Given the description of an element on the screen output the (x, y) to click on. 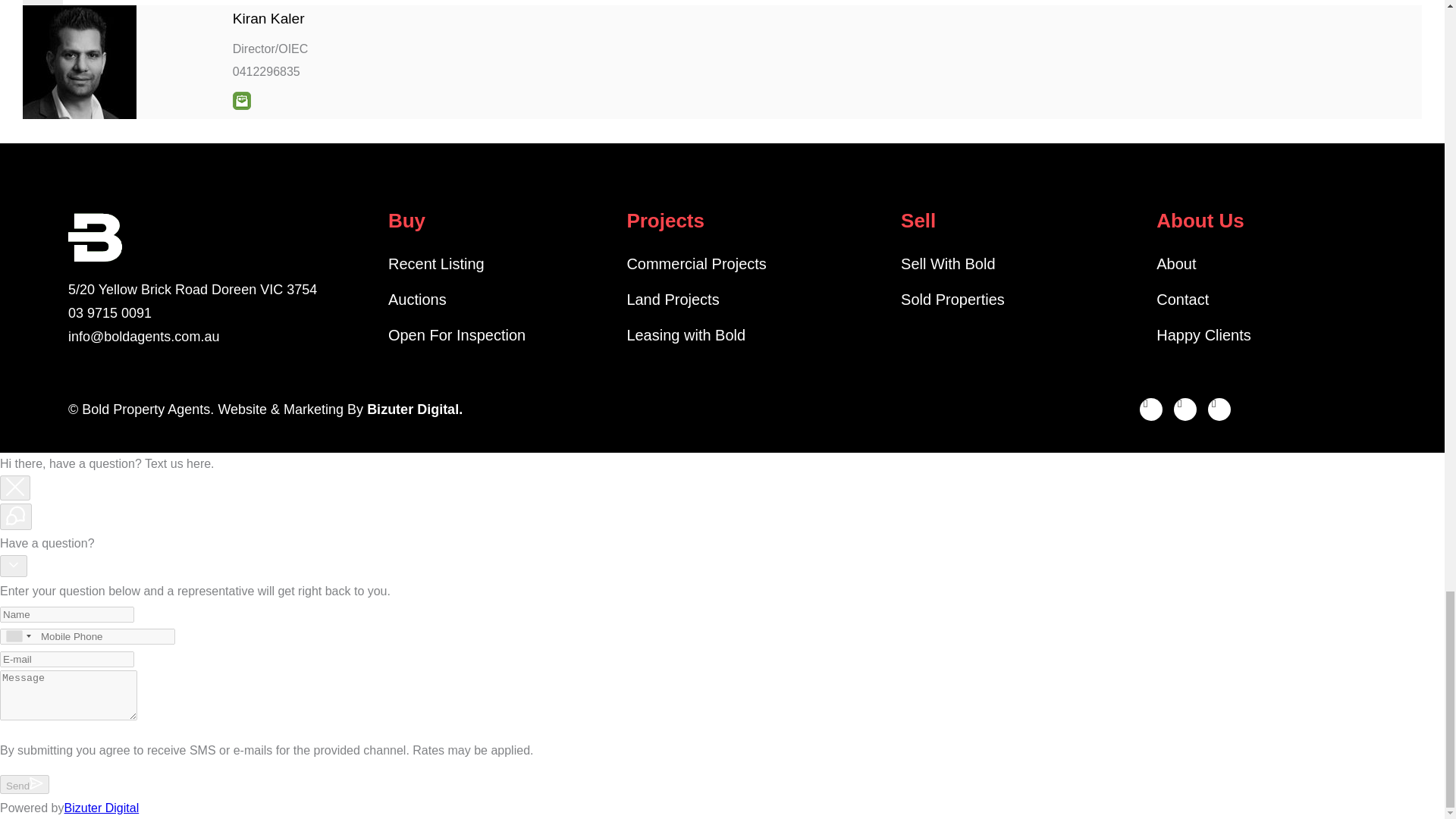
Auctions (499, 299)
Kiran Kaler (268, 18)
Email (241, 100)
Open For Inspection (499, 334)
03 9715 0091 (205, 312)
Recent Listing (499, 263)
Commercial Projects (755, 263)
Contact Kiran Kaler by Email (241, 100)
